Given the description of an element on the screen output the (x, y) to click on. 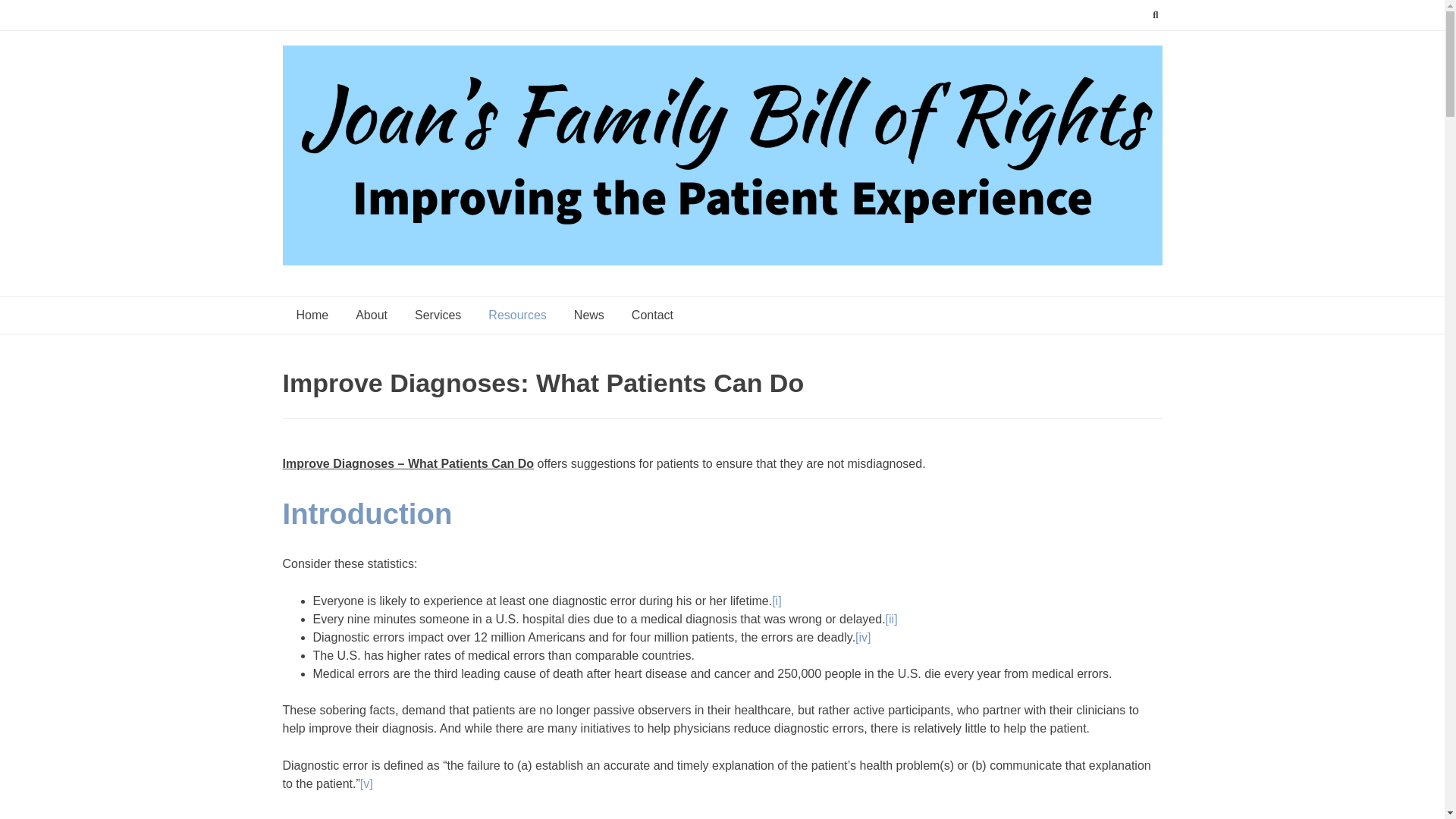
News (588, 315)
Services (437, 315)
Home (312, 315)
Introduction (366, 513)
Contact (652, 315)
Search (27, 13)
Resources (516, 315)
About (371, 315)
